Given the description of an element on the screen output the (x, y) to click on. 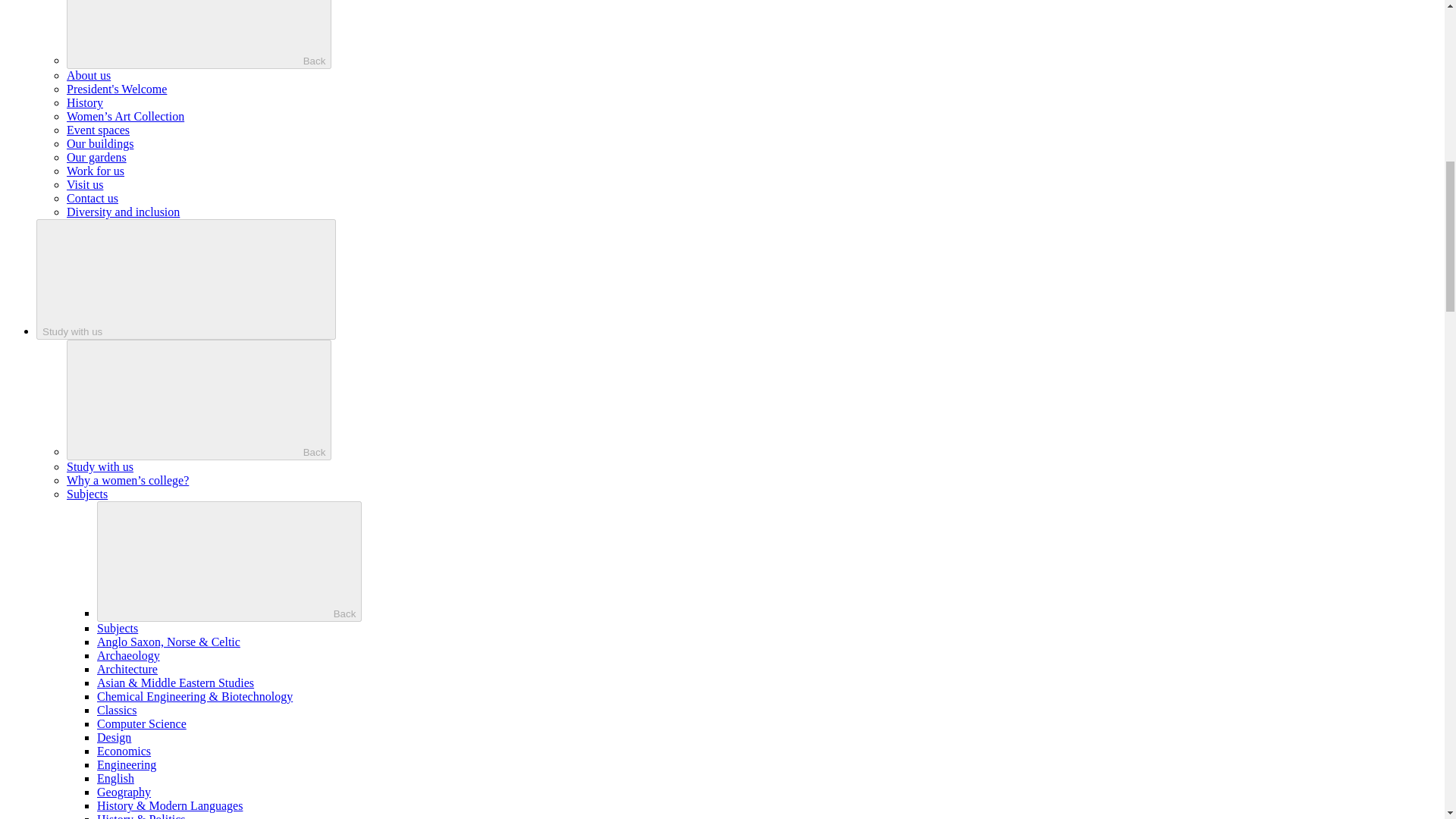
President's Welcome (116, 88)
Subjects (117, 627)
Study with us (186, 279)
English (115, 778)
Subjects (86, 493)
Computer Science (141, 723)
Back (198, 34)
Back (198, 399)
Visit us (84, 184)
Classics (116, 709)
